Given the description of an element on the screen output the (x, y) to click on. 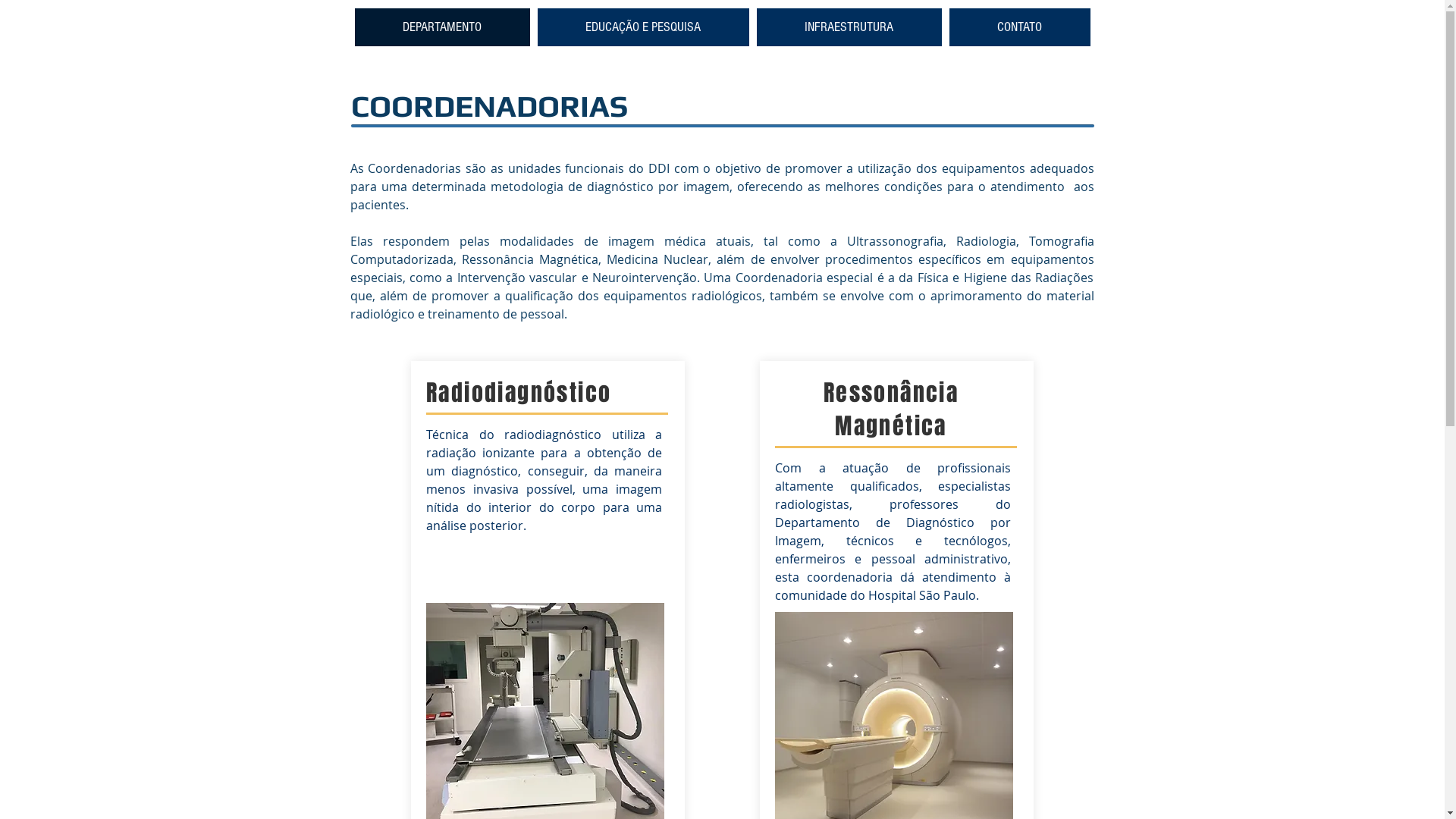
CONTATO Element type: text (1019, 27)
INFRAESTRUTURA Element type: text (848, 27)
DEPARTAMENTO Element type: text (442, 27)
